Given the description of an element on the screen output the (x, y) to click on. 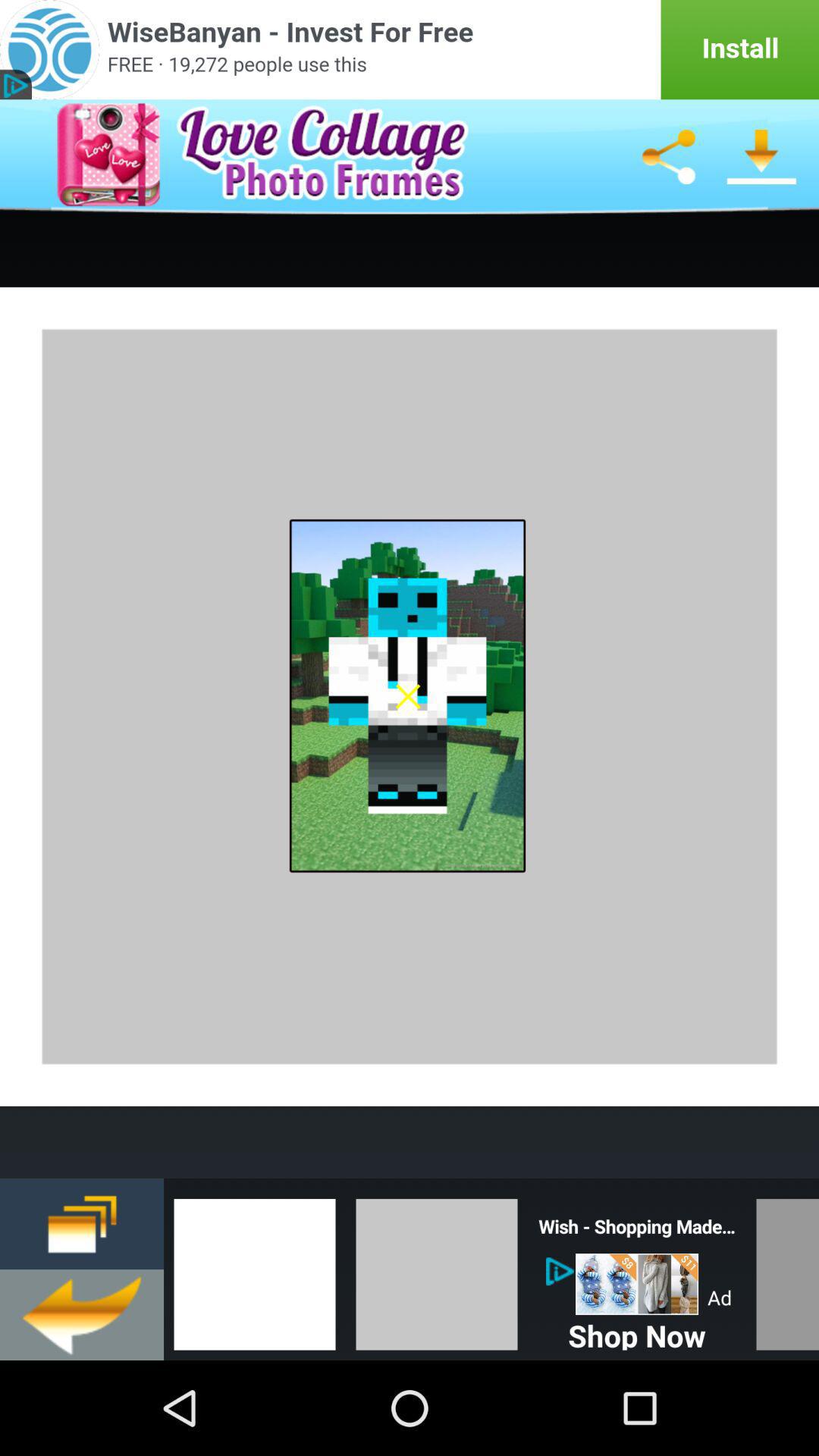
download the picture (762, 156)
